Given the description of an element on the screen output the (x, y) to click on. 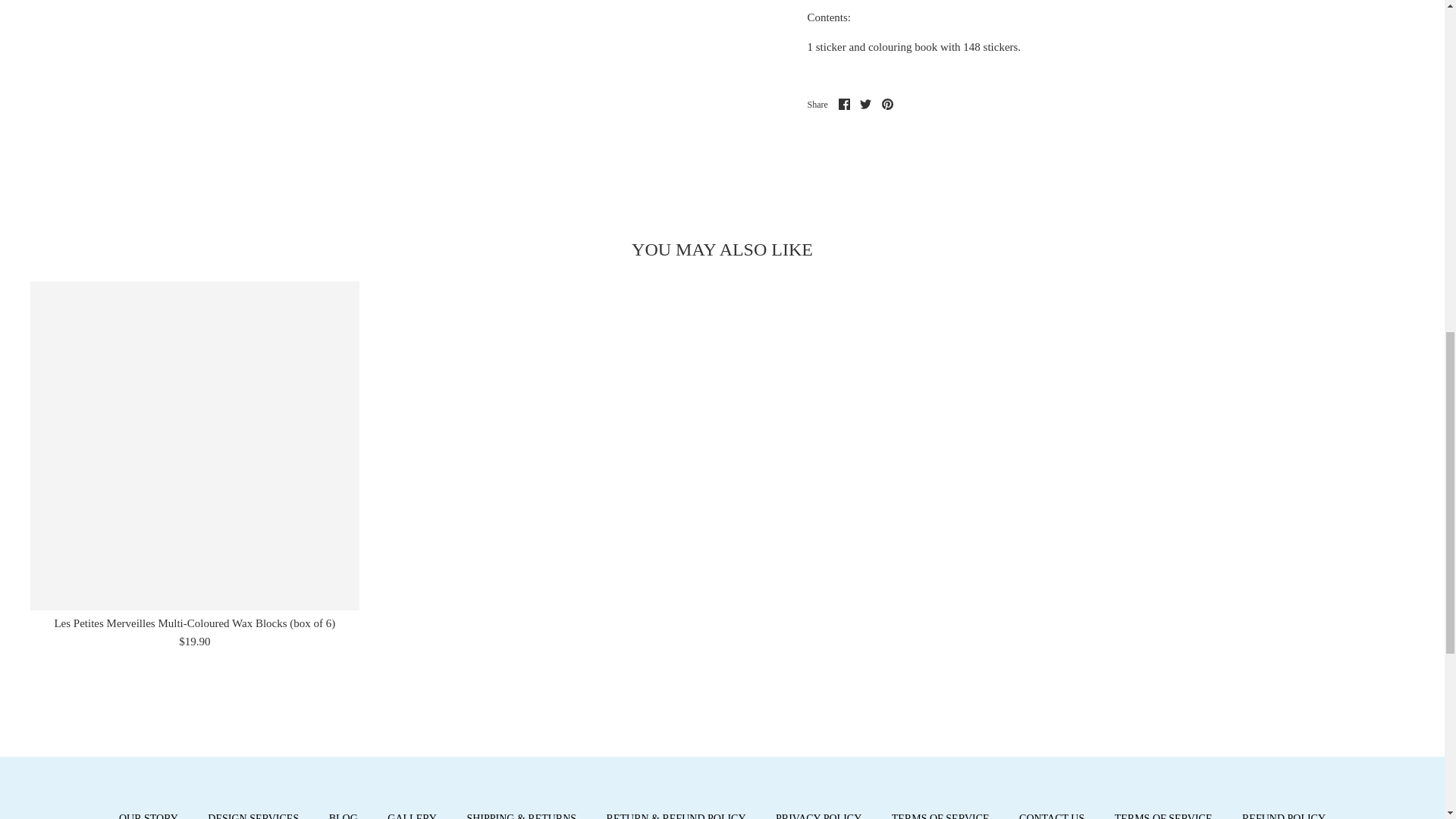
Facebook (844, 103)
Pinterest (887, 103)
Twitter (865, 103)
